Given the description of an element on the screen output the (x, y) to click on. 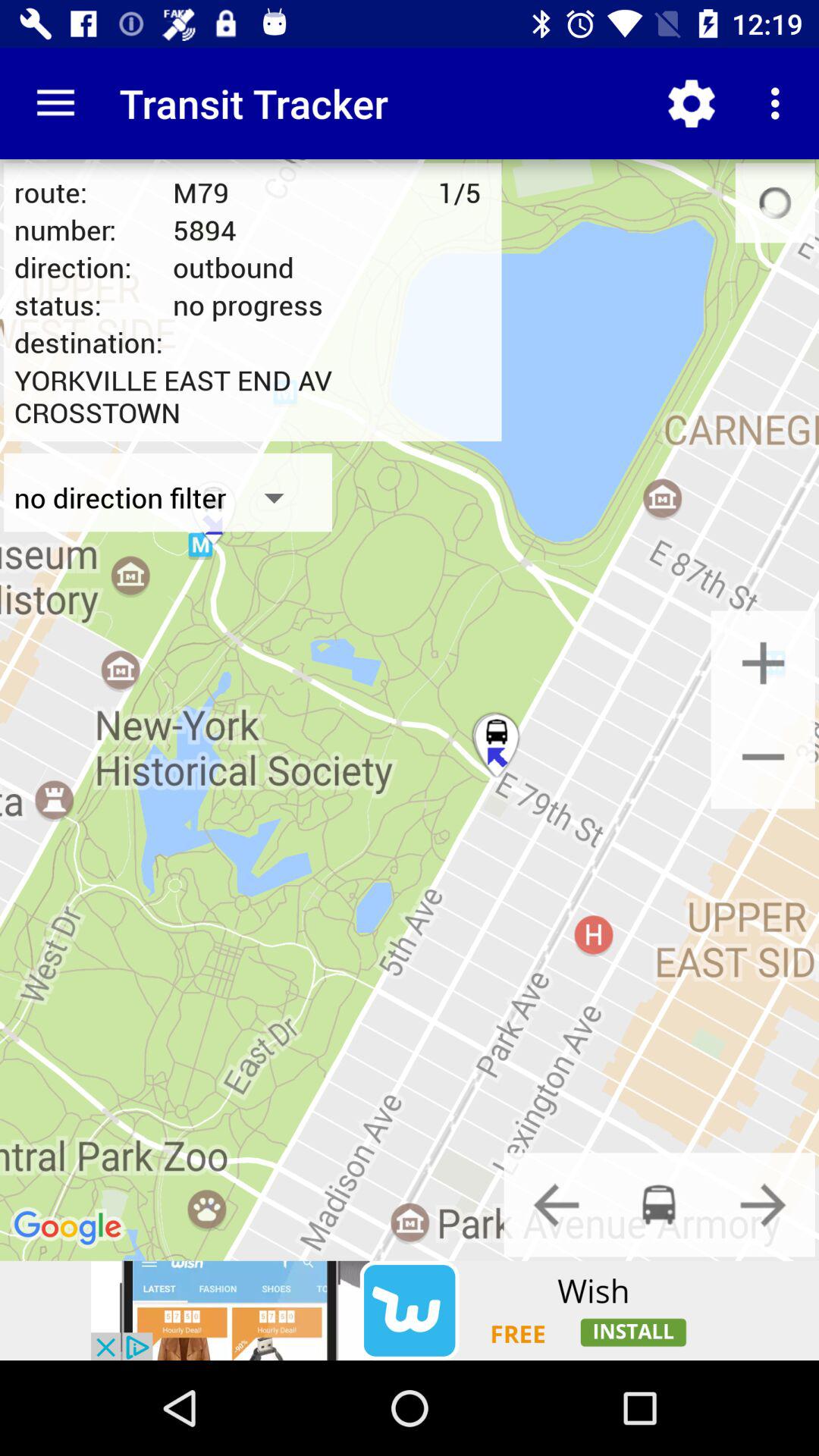
next option (762, 1204)
